Given the description of an element on the screen output the (x, y) to click on. 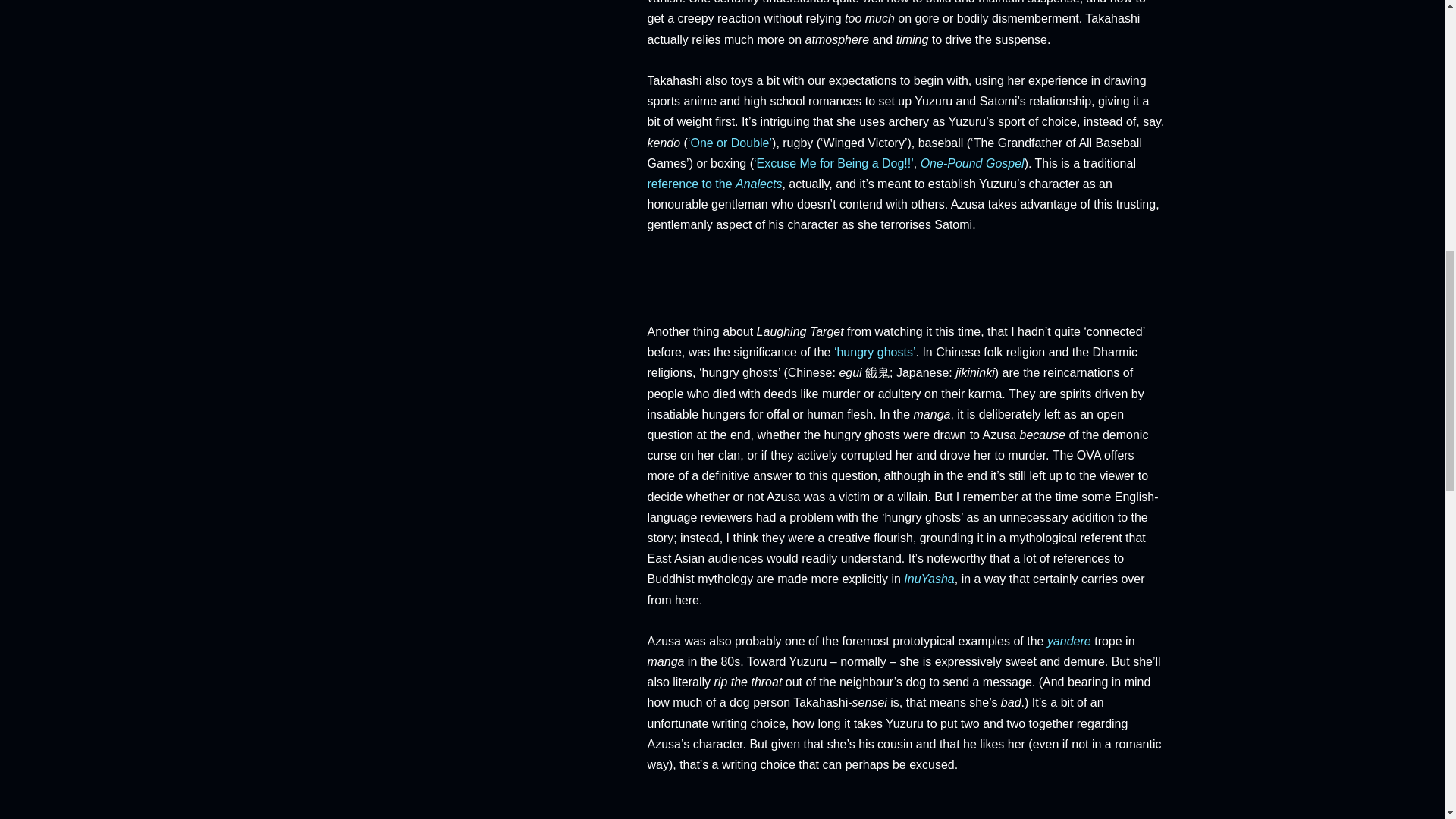
InuYasha (928, 578)
One-Pound Gospel (972, 163)
yandere (1068, 640)
reference to the Analects (715, 183)
